Given the description of an element on the screen output the (x, y) to click on. 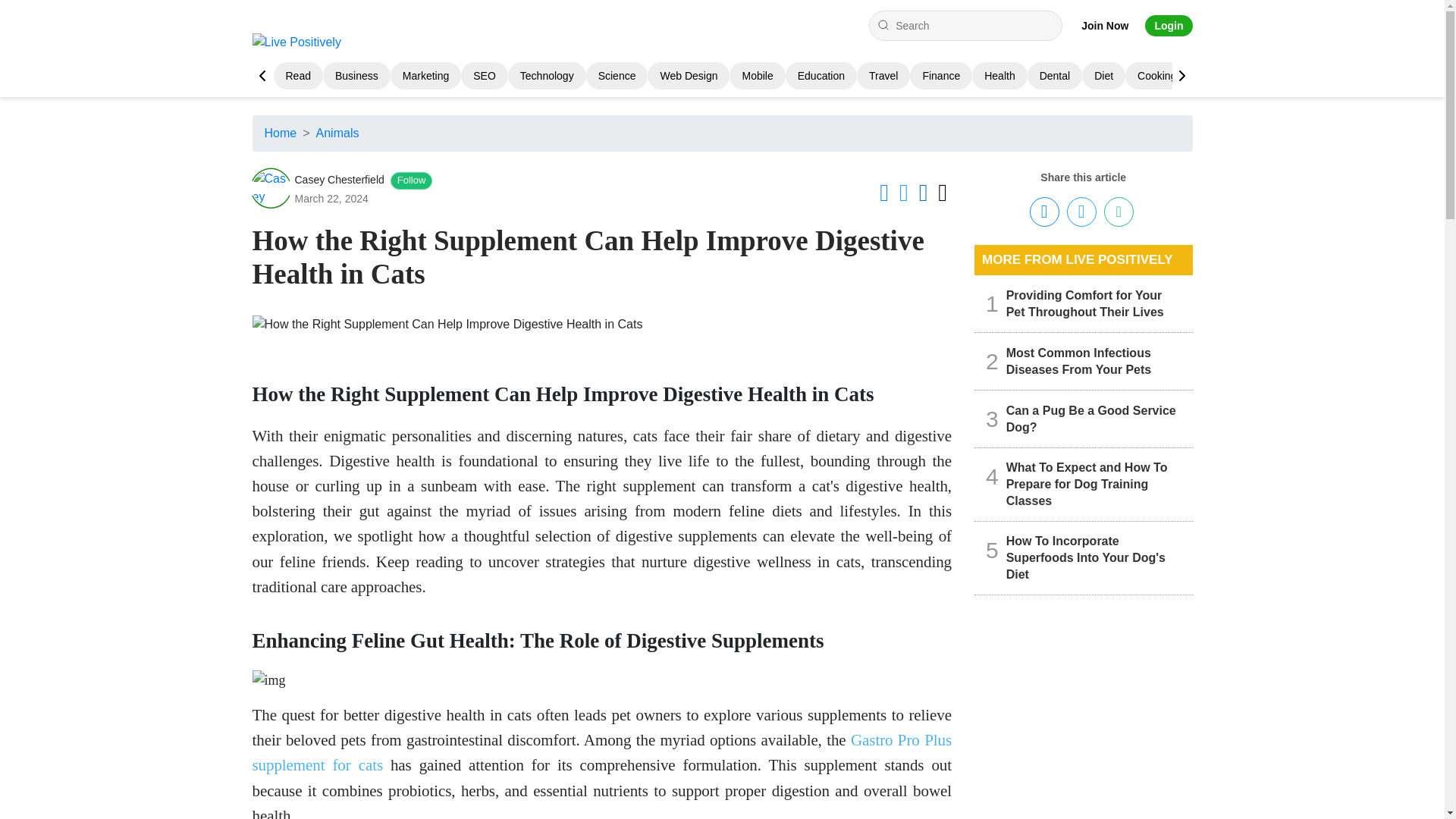
Read (297, 75)
Share via Facebook (1044, 211)
Web Design (688, 75)
Mobile (757, 75)
Business (356, 75)
Share via Twitter (1081, 211)
Finance (940, 75)
SEO (484, 75)
Education (820, 75)
Travel (883, 75)
